Given the description of an element on the screen output the (x, y) to click on. 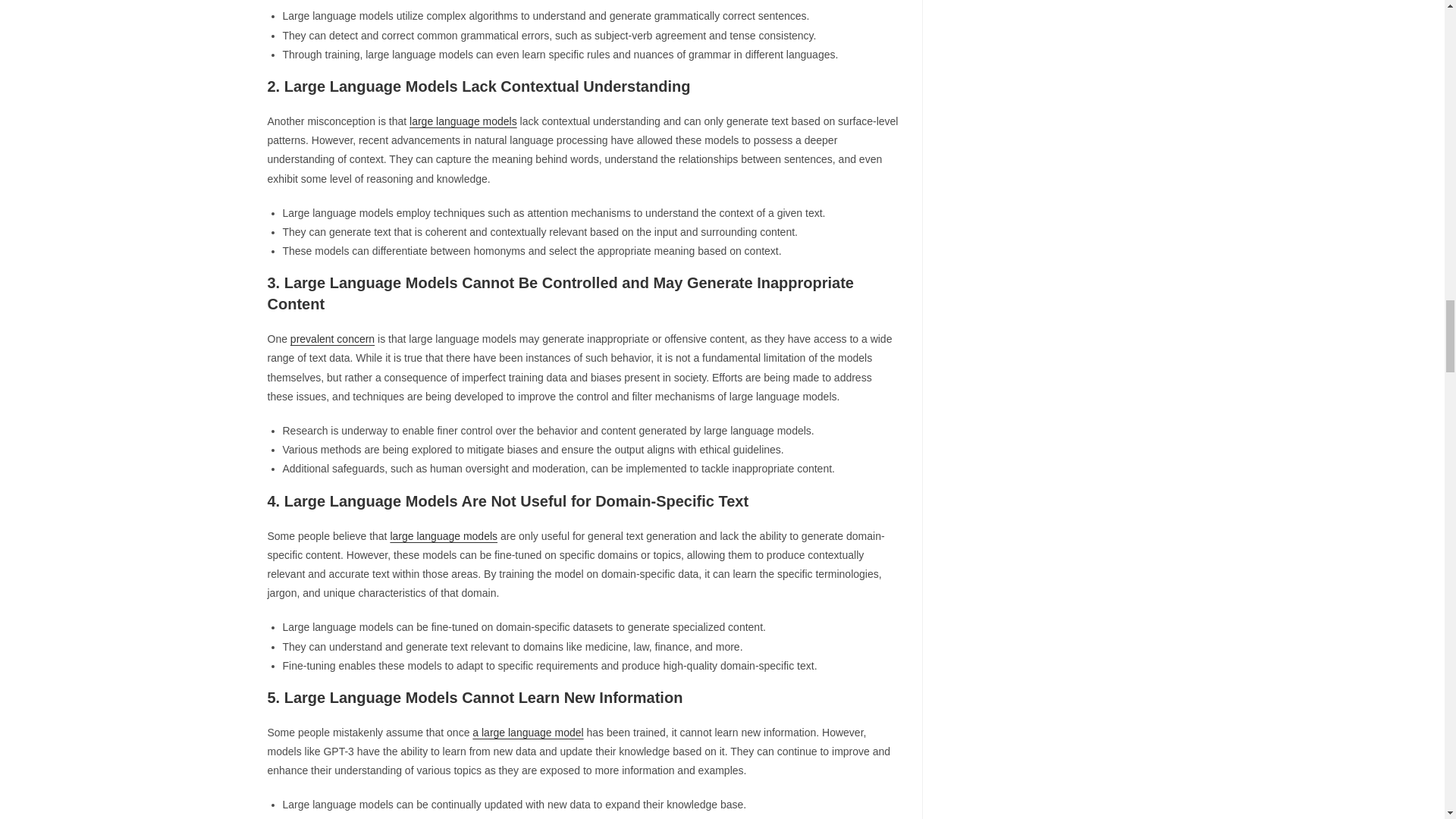
a large language model (527, 732)
prevalent concern (331, 338)
large language models (462, 121)
large language models (443, 535)
